Given the description of an element on the screen output the (x, y) to click on. 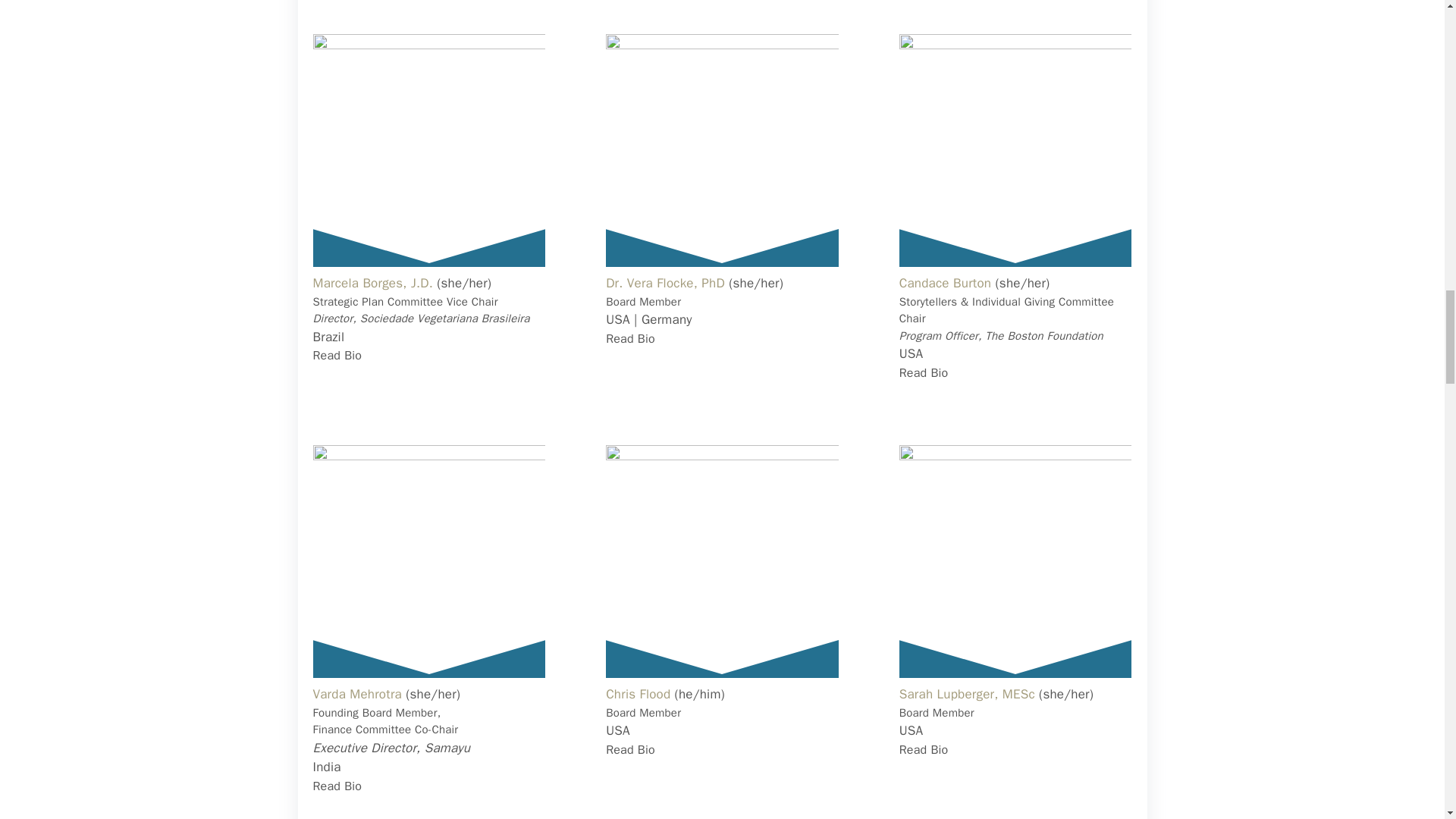
Marcela (428, 149)
